Given the description of an element on the screen output the (x, y) to click on. 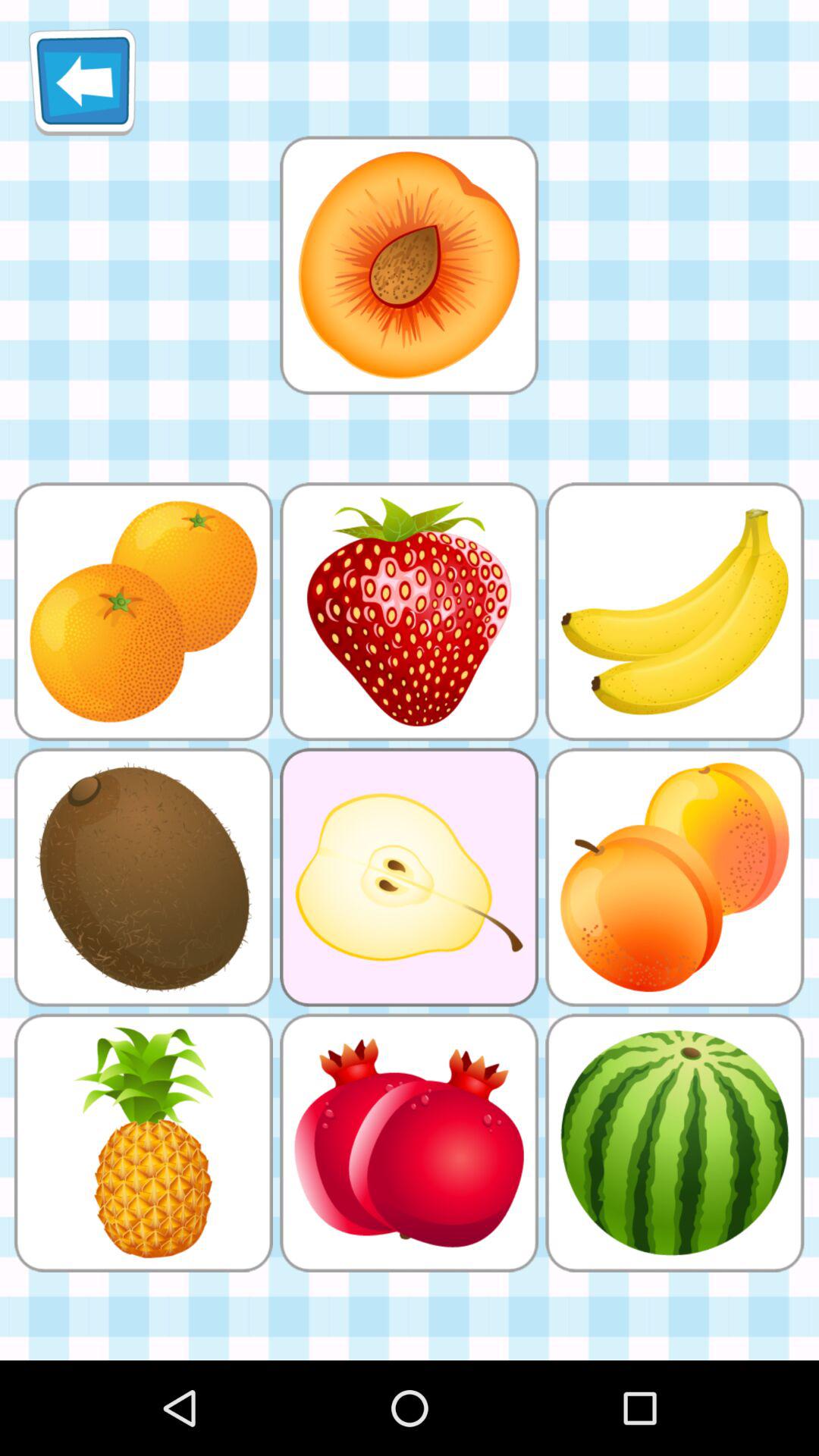
select option 'peach (409, 265)
